Given the description of an element on the screen output the (x, y) to click on. 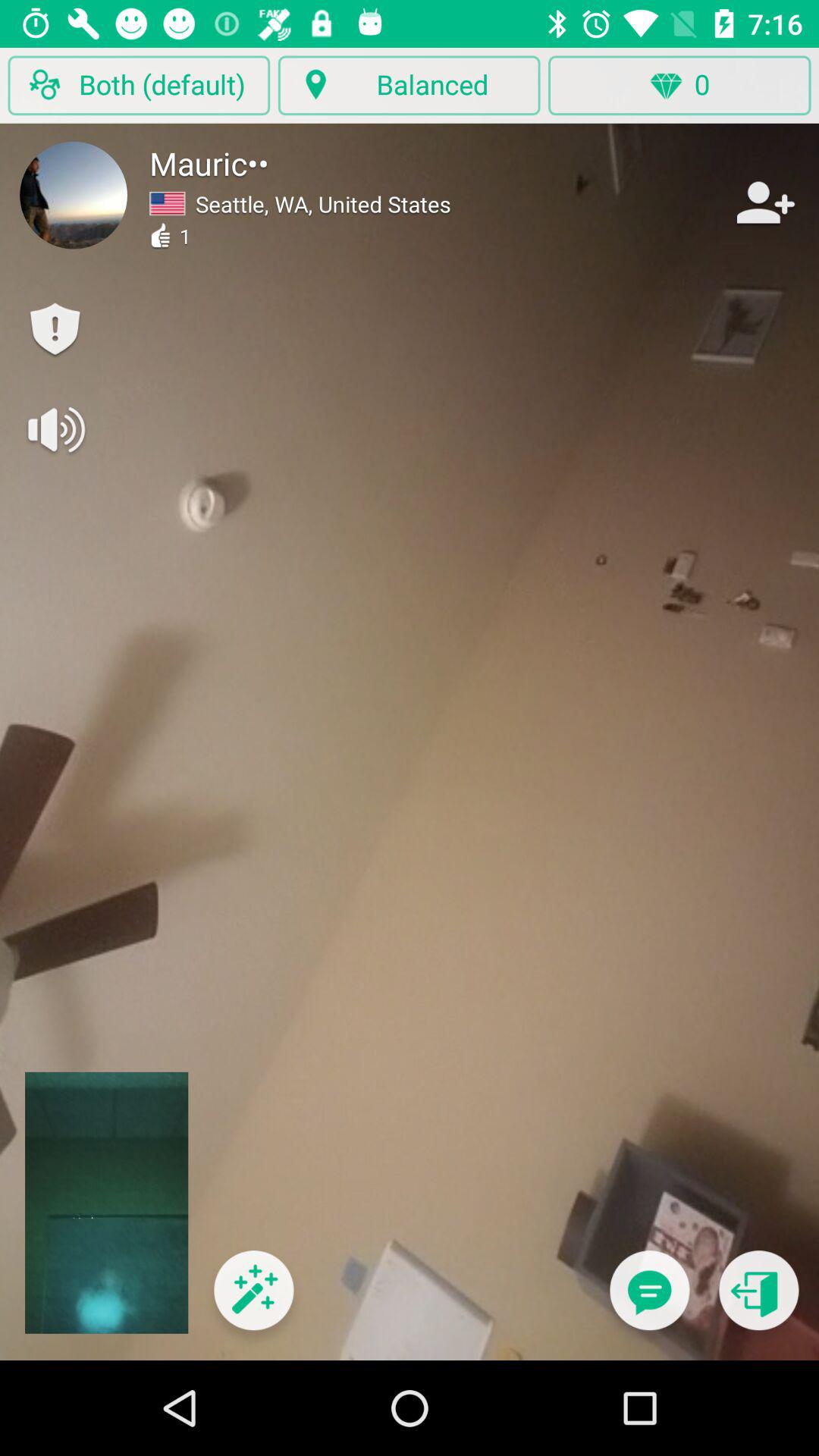
change profile picture (73, 195)
